Given the description of an element on the screen output the (x, y) to click on. 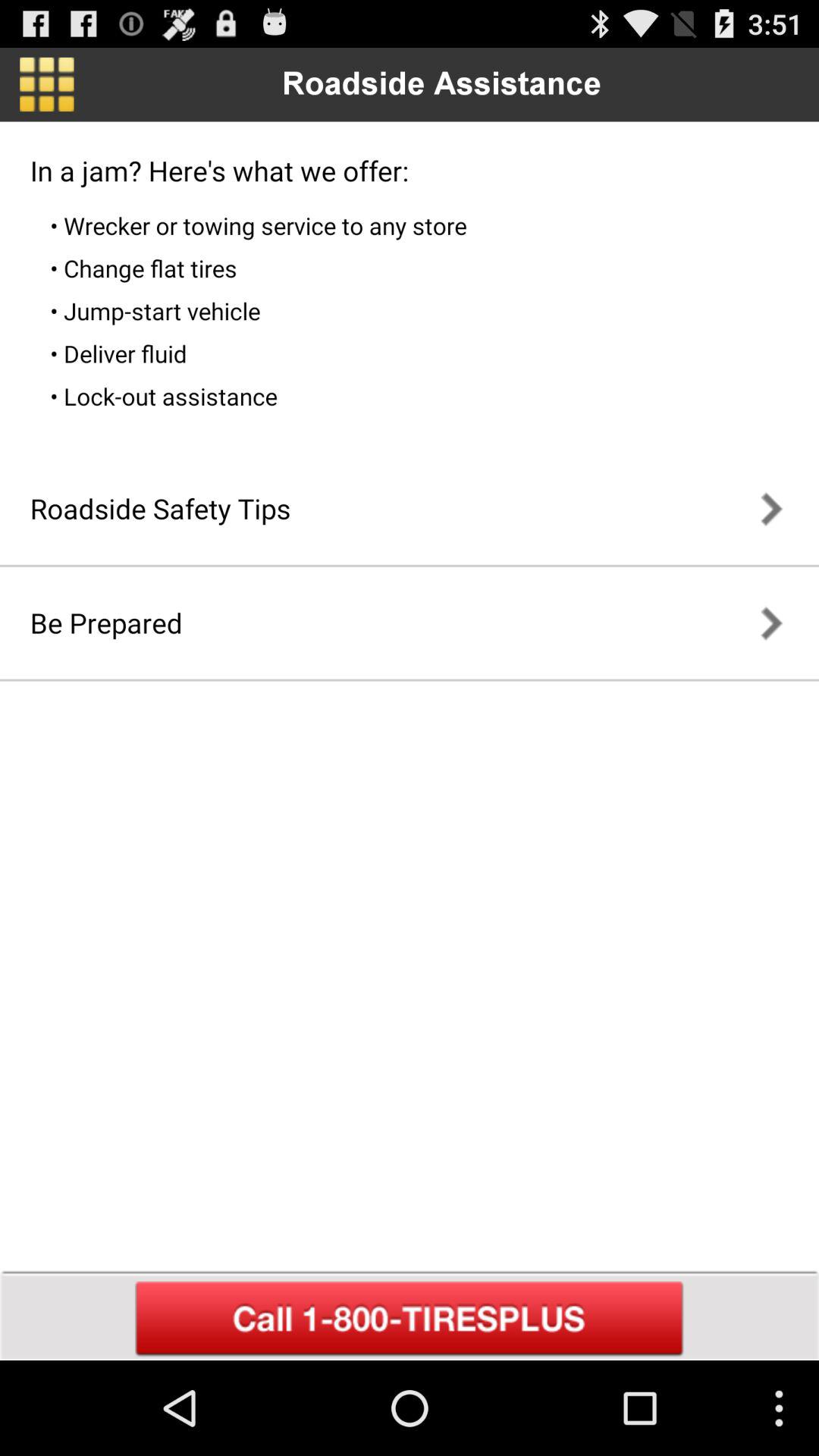
swipe to the roadside safety tips app (160, 508)
